Given the description of an element on the screen output the (x, y) to click on. 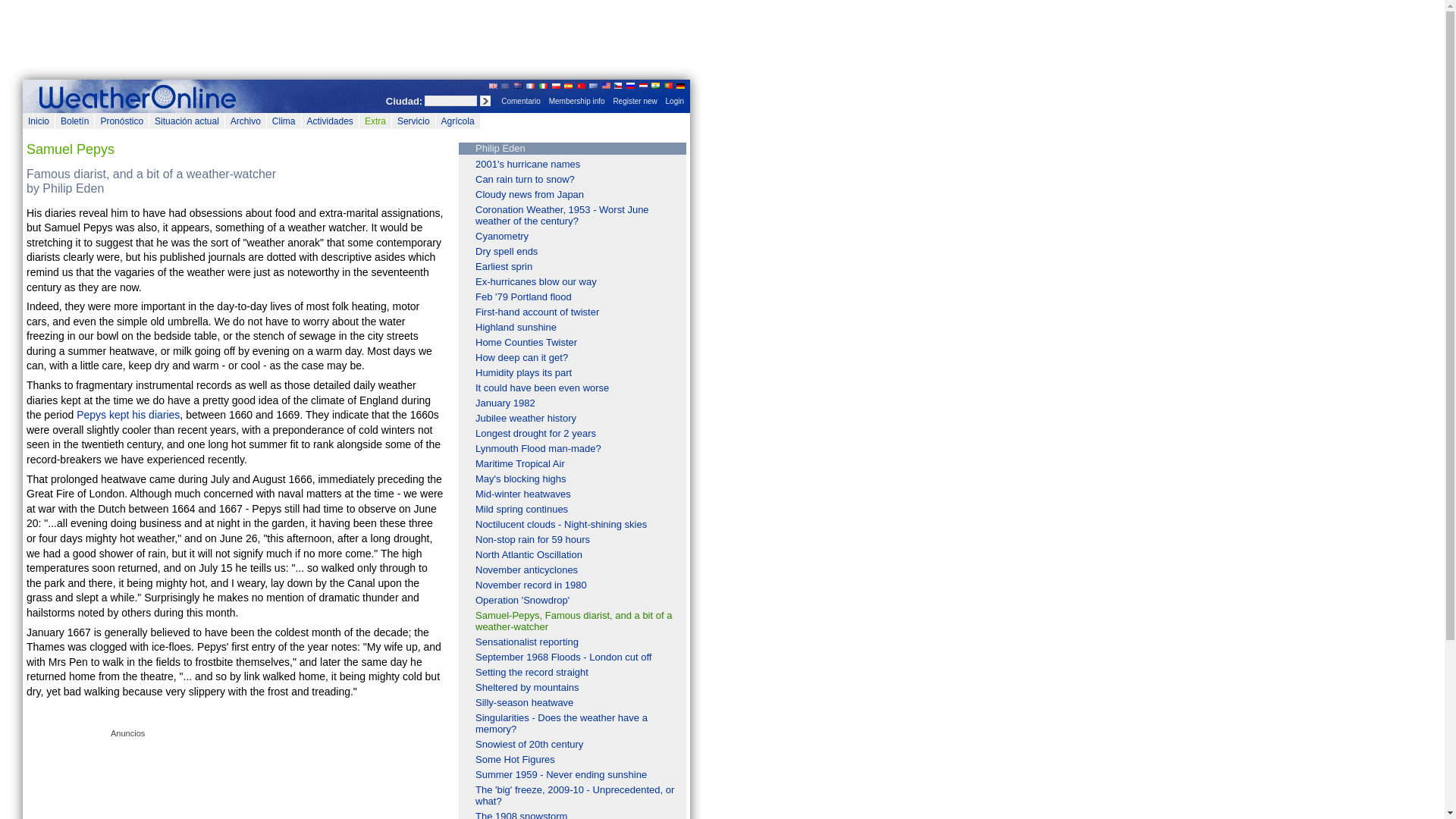
weather forecast USA WeatherOnline (606, 85)
woespana (140, 96)
weather forecast New Zealand WeatherOnline (517, 85)
prognoza pogody Polska WeatherOnline (555, 85)
Register new (634, 101)
previsione Italia woitalia (542, 85)
weather forecast India WeatherOnline (654, 85)
Comentario (520, 101)
Inicio (38, 121)
Wettervorhersage Deutschland WeatherOnline (680, 85)
weather forecast United Kingdom WeatherOnline (493, 85)
Login (674, 101)
weather forecast Europe WeatherOnline (504, 85)
Membership info (577, 101)
Weersverwachting Nederland WeatherOnline (643, 85)
